Given the description of an element on the screen output the (x, y) to click on. 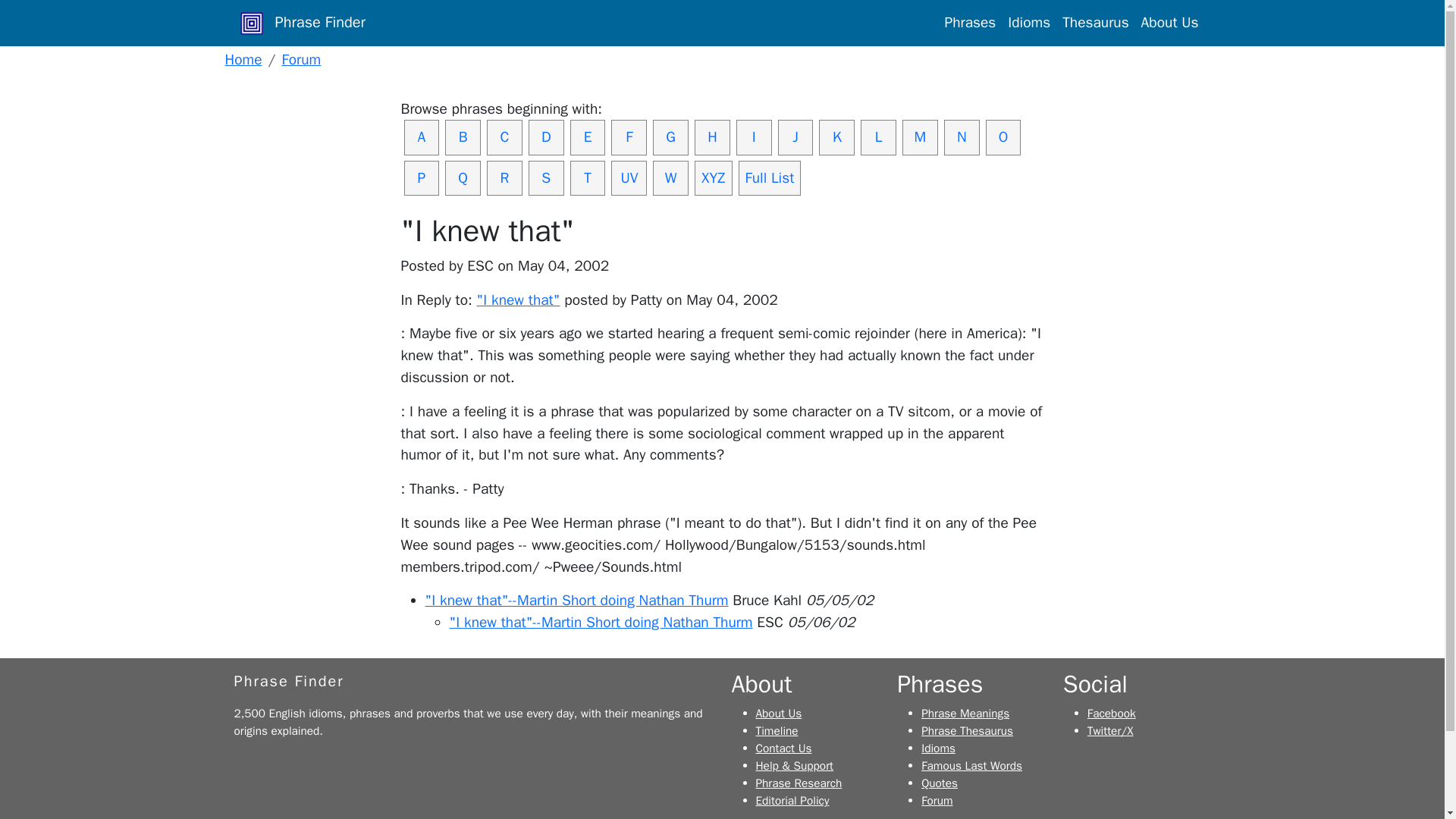
Sayings and idioms that begin with the letter A (421, 137)
G (670, 137)
XYZ (713, 178)
L (878, 137)
K (836, 137)
Sayings and idioms that begin with the letter I (753, 137)
T (587, 178)
Sayings and idioms that begin with the letter P (421, 178)
Sayings and idioms that begin with the letter N (961, 137)
I (753, 137)
Phrase Finder (287, 681)
N (961, 137)
P (421, 178)
F (628, 137)
Sayings and idioms that begin with the letter B (462, 137)
